Given the description of an element on the screen output the (x, y) to click on. 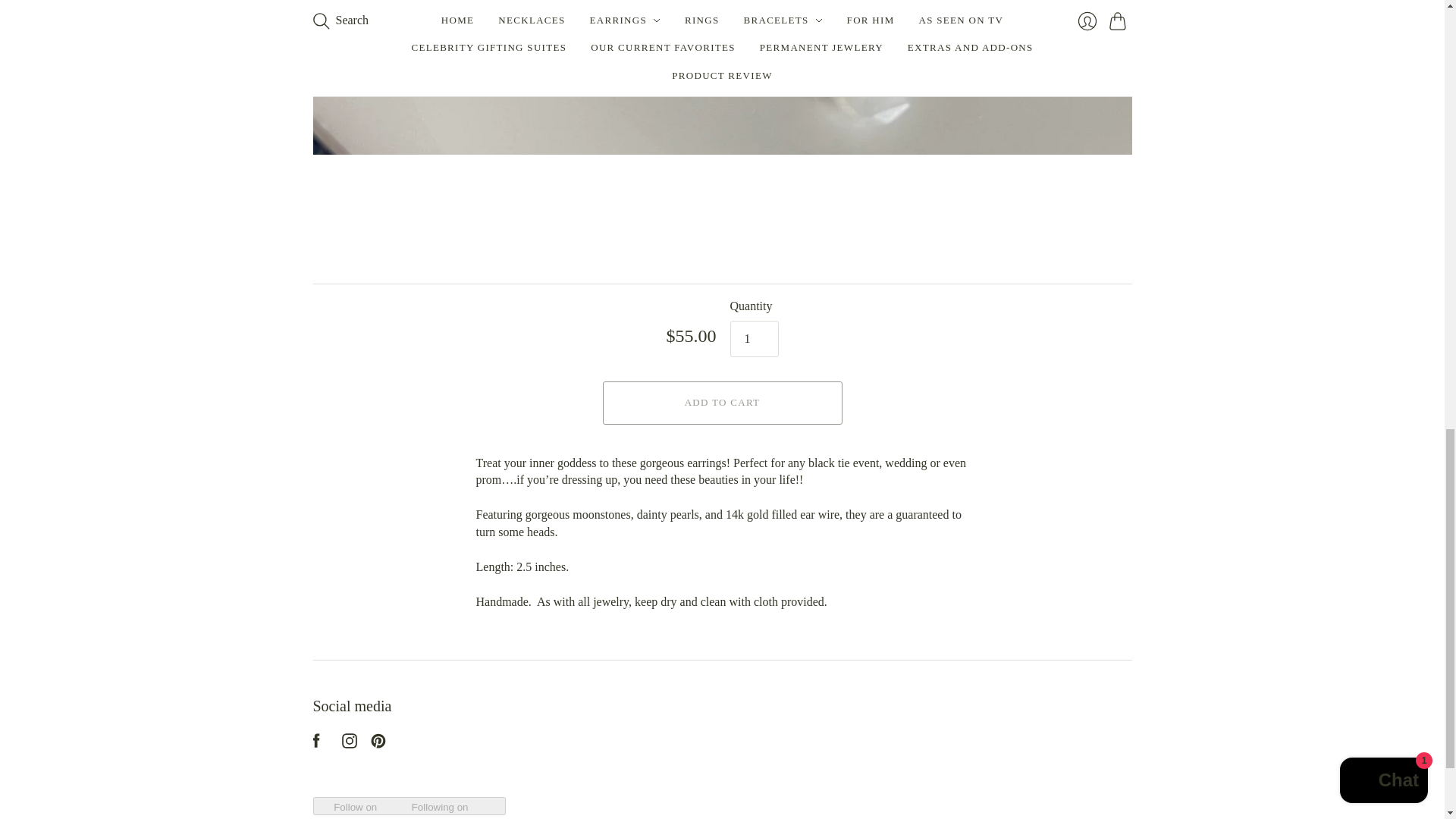
1 (753, 339)
